Given the description of an element on the screen output the (x, y) to click on. 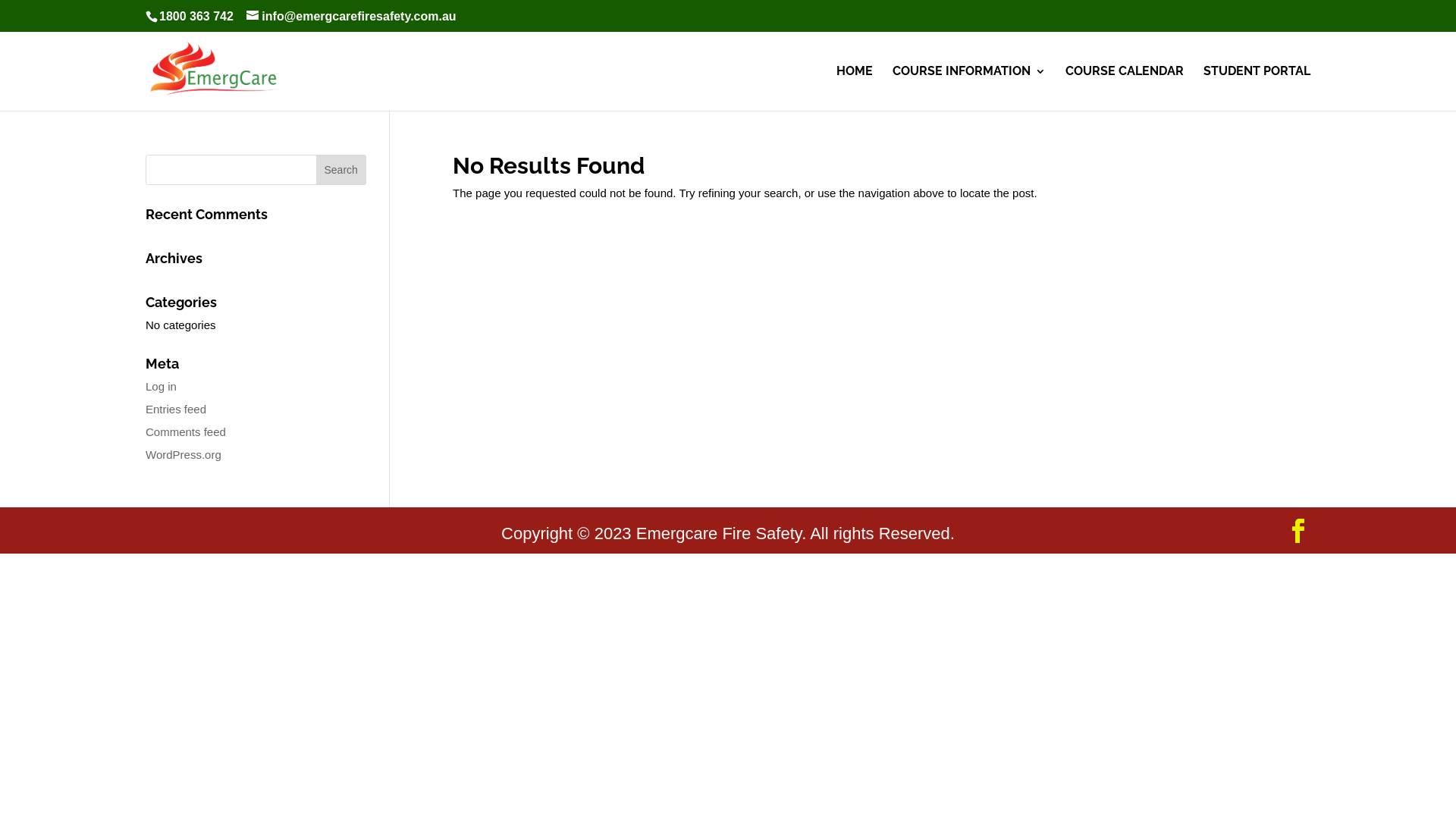
HOME Element type: text (854, 87)
Search Element type: text (341, 169)
info@emergcarefiresafety.com.au Element type: text (350, 15)
Log in Element type: text (160, 385)
STUDENT PORTAL Element type: text (1256, 87)
WordPress.org Element type: text (183, 453)
COURSE INFORMATION Element type: text (968, 87)
Comments feed Element type: text (185, 430)
Entries feed Element type: text (175, 407)
COURSE CALENDAR Element type: text (1124, 87)
